Given the description of an element on the screen output the (x, y) to click on. 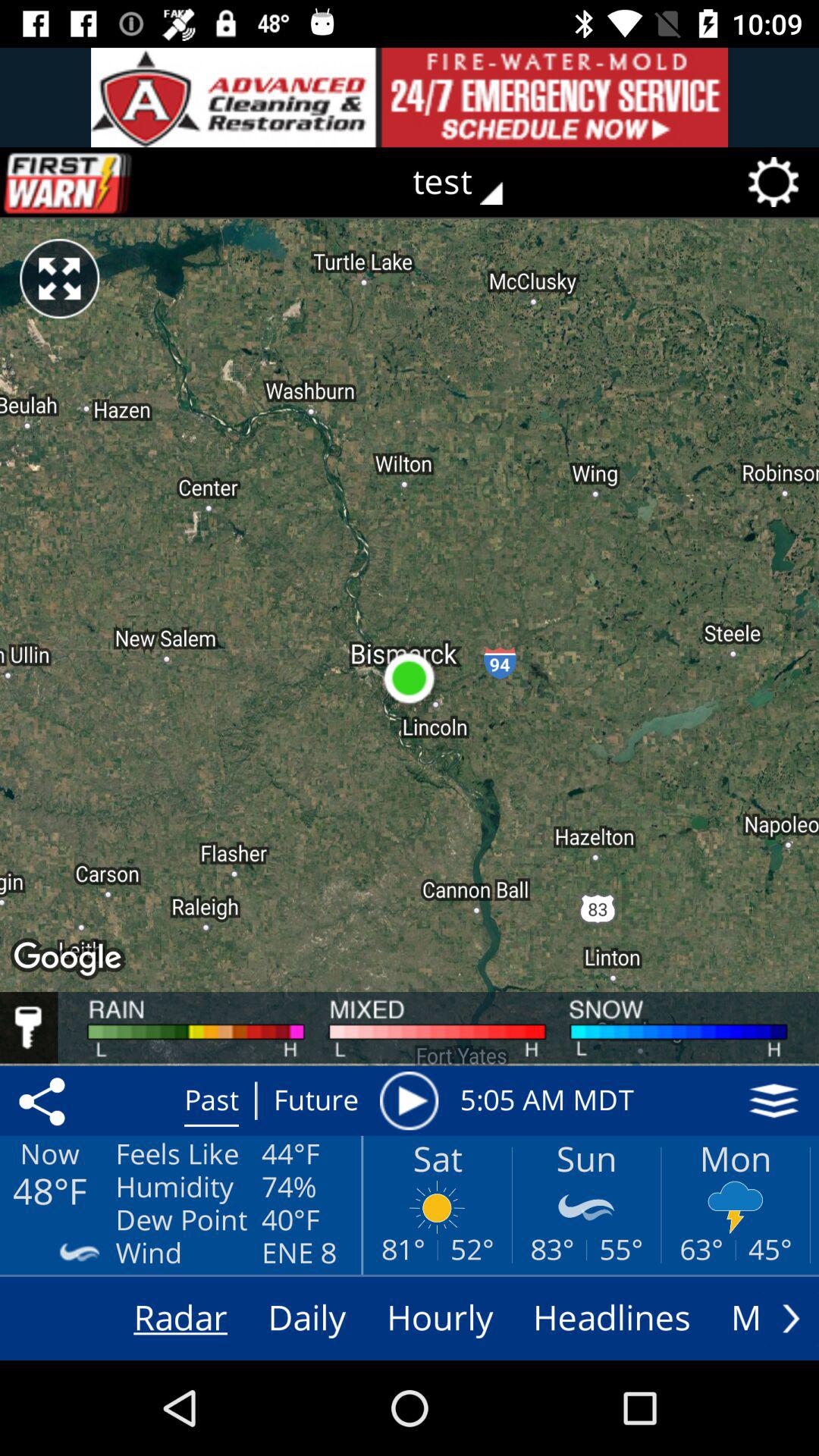
select item next to the 5 05 am (774, 1100)
